Given the description of an element on the screen output the (x, y) to click on. 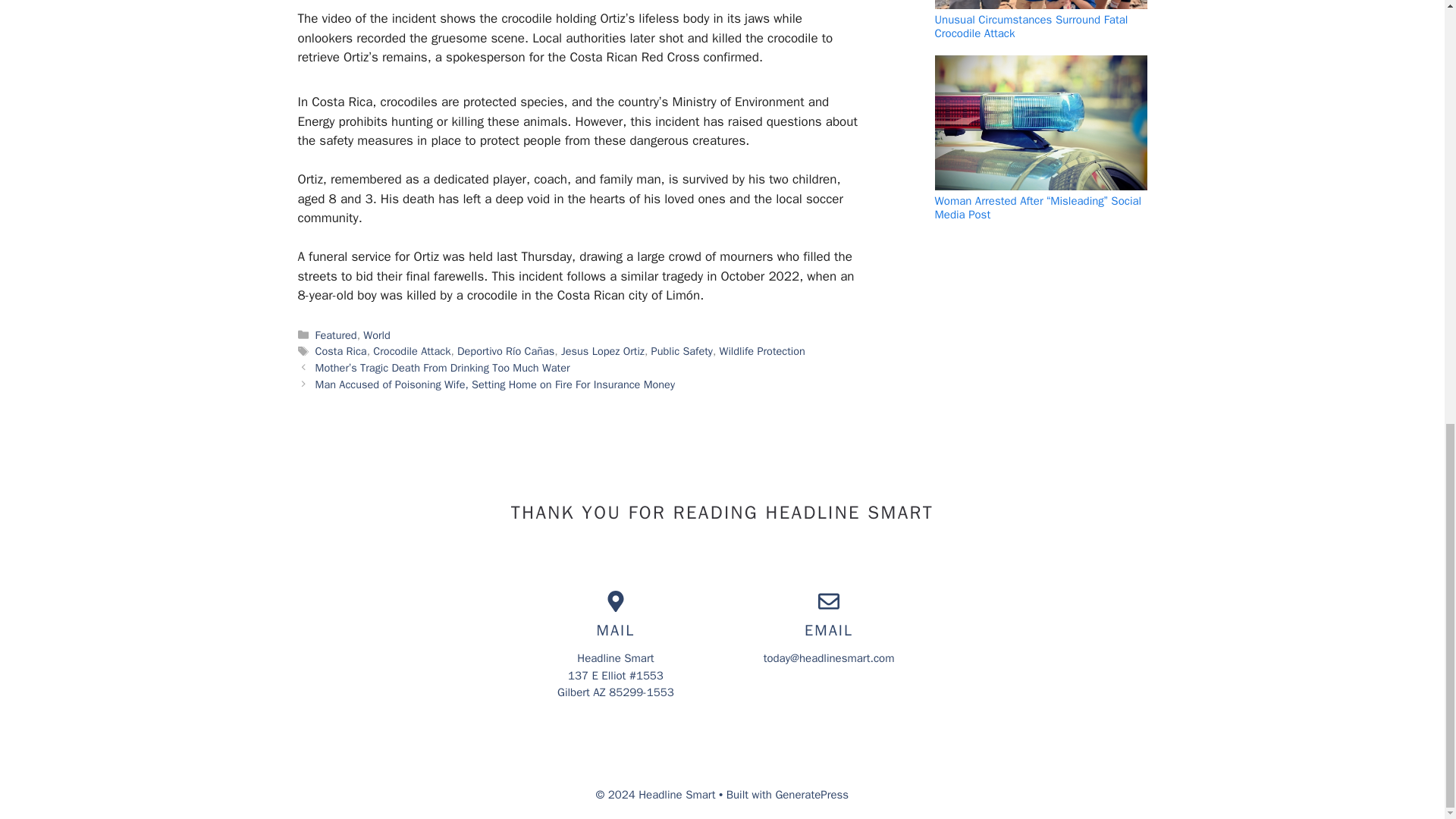
Jesus Lopez Ortiz (602, 350)
Costa Rica (340, 350)
GeneratePress (811, 794)
Public Safety (681, 350)
World (376, 335)
Featured (335, 335)
Wildlife Protection (762, 350)
Unusual Circumstances Surround Fatal Crocodile Attack (1030, 26)
Crocodile Attack (410, 350)
